Given the description of an element on the screen output the (x, y) to click on. 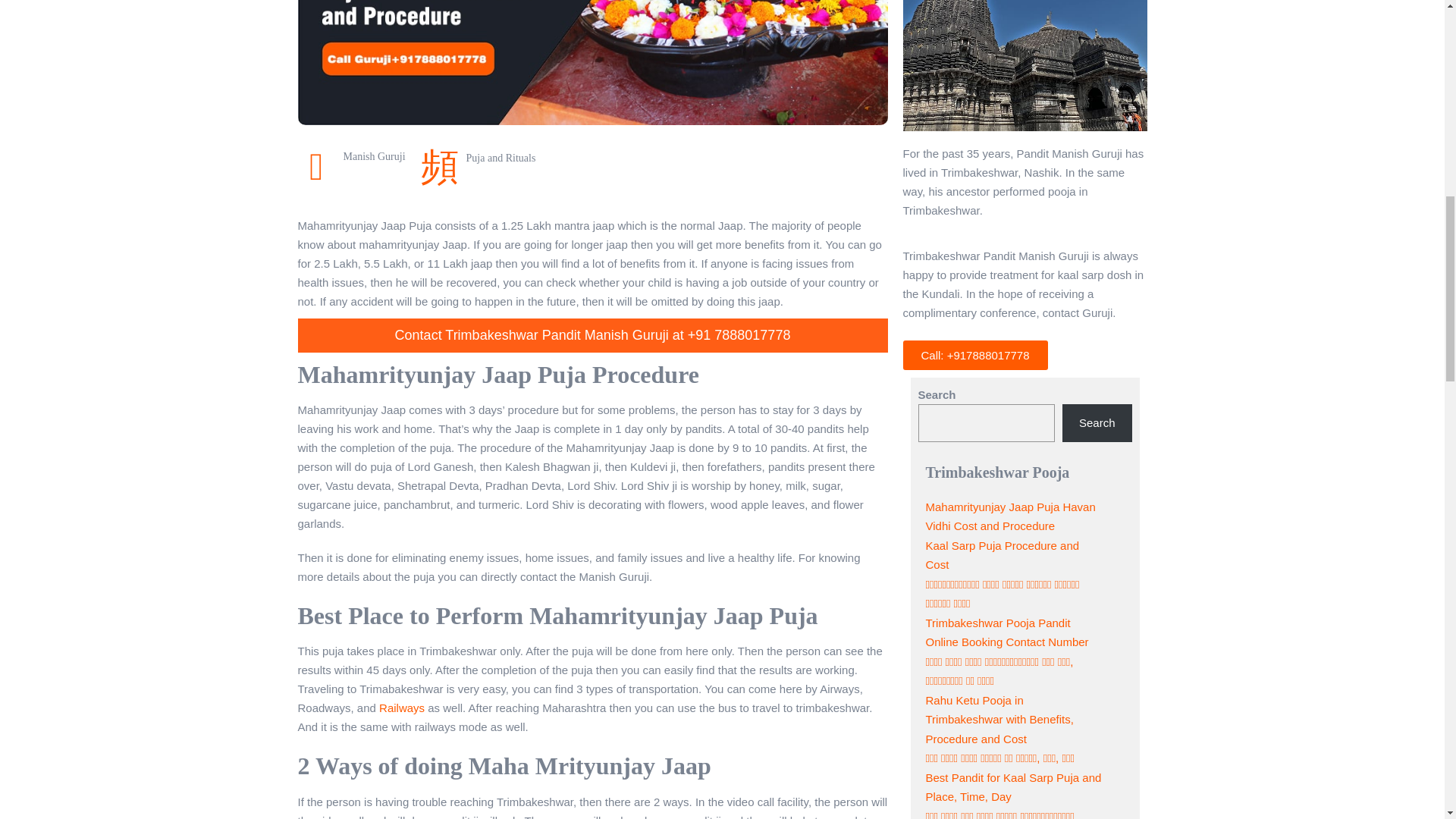
Search (1097, 423)
Mahamrityunjay Jaap Puja Havan Vidhi Cost and Procedure (1009, 516)
Puja and Rituals (500, 158)
Kaal Sarp Puja Procedure and Cost (1001, 554)
Best Pandit for Kaal Sarp Puja and Place, Time, Day (1012, 787)
Railways (401, 707)
Trimbakeshwar Pooja Pandit Online Booking Contact Number (1005, 632)
